Given the description of an element on the screen output the (x, y) to click on. 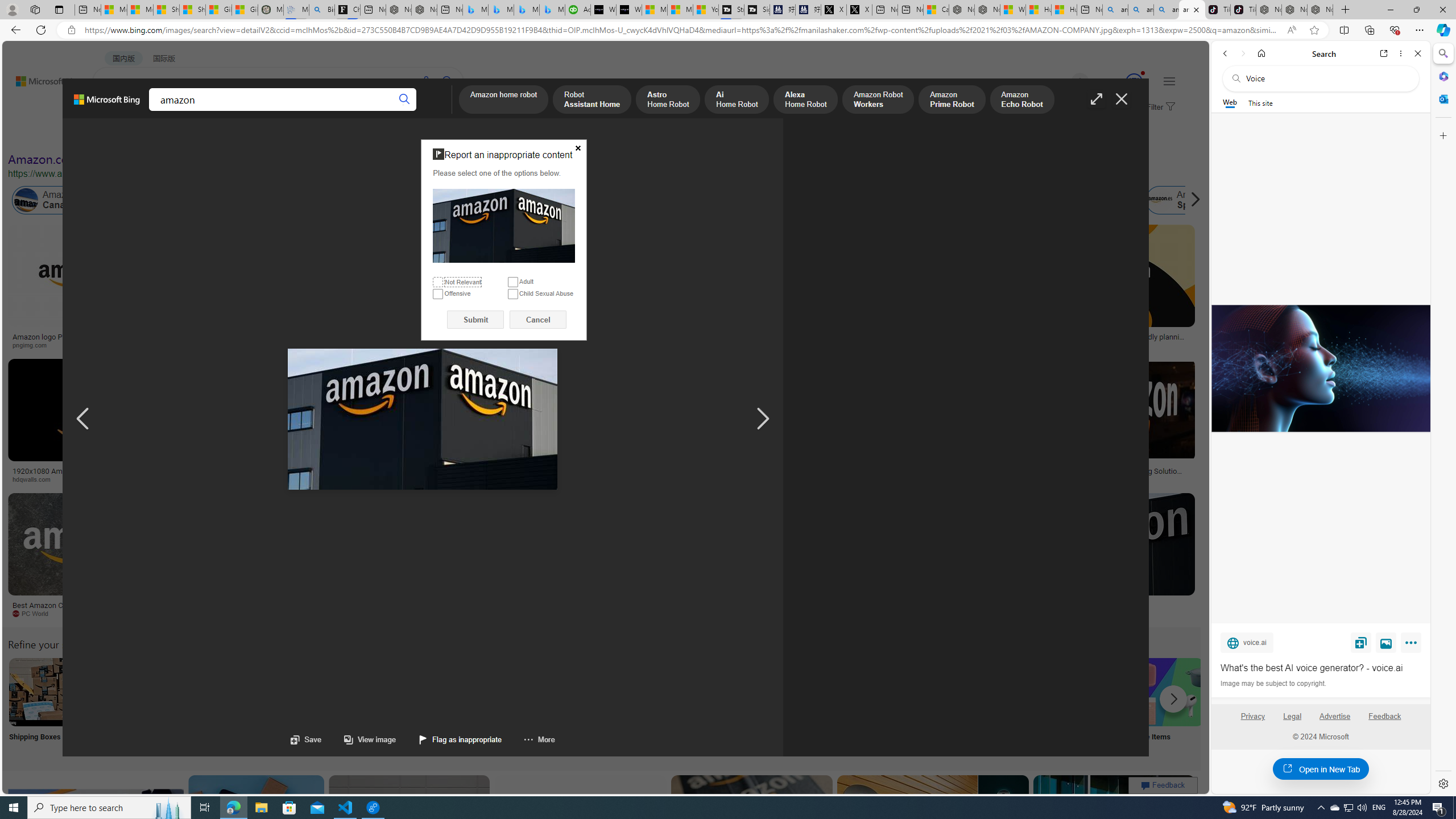
Amazon India (508, 199)
Sale Items (1169, 706)
Nordace - Siena Pro 15 Essential Set (1320, 9)
voice.ai (1247, 642)
Amazon Kids (239, 200)
Amazon Package Delivery (418, 691)
theverge.com (1118, 344)
Forward (1242, 53)
Amazon Online Shopping Search Online Shopping Search (118, 706)
cordcuttersnews.com (916, 613)
Amazon (1032, 605)
